Given the description of an element on the screen output the (x, y) to click on. 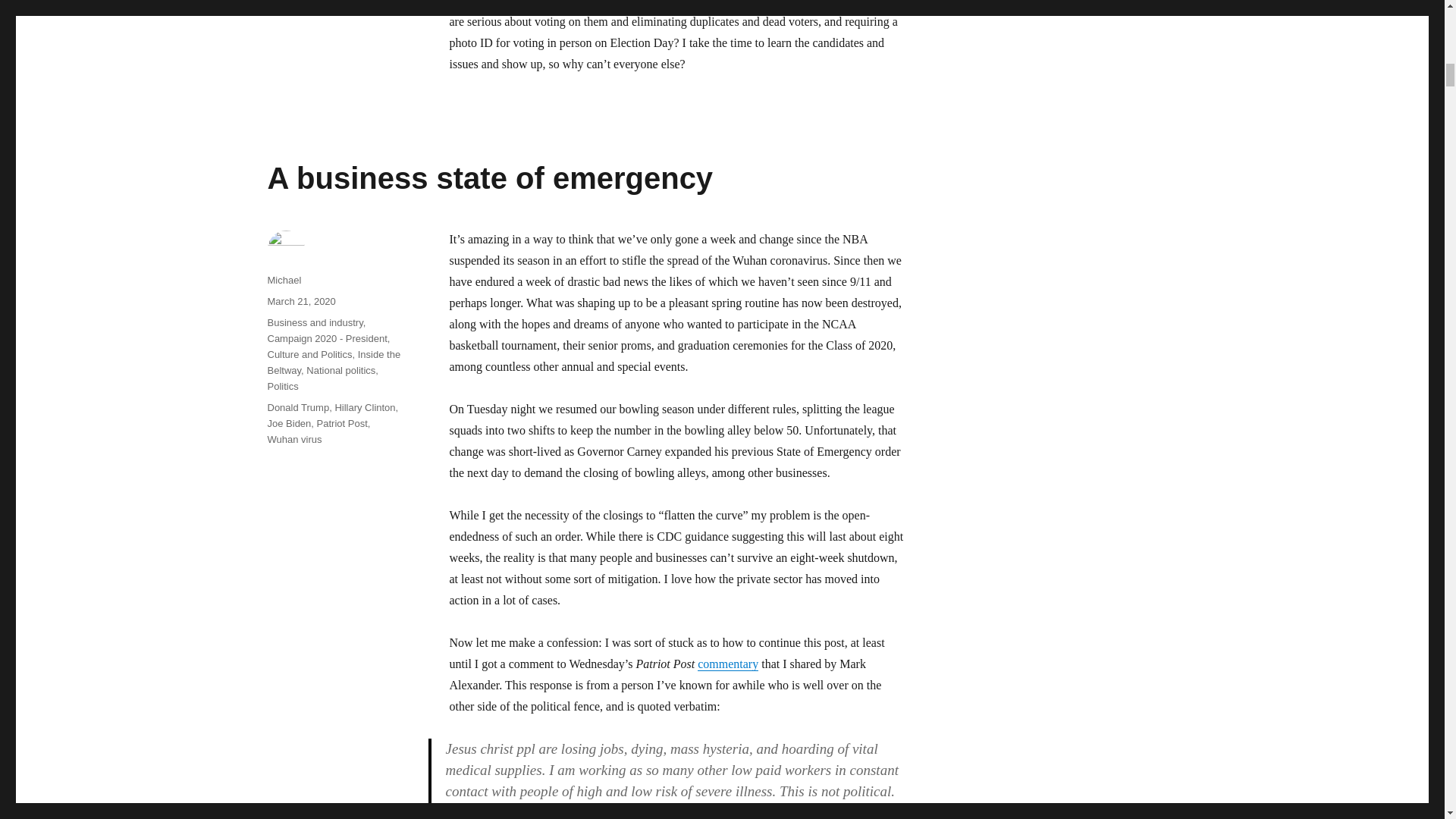
Joe Biden (288, 423)
Culture and Politics (309, 354)
commentary (727, 663)
Business and industry (314, 322)
National politics (340, 369)
Inside the Beltway (333, 361)
Patriot Post (342, 423)
Michael (283, 279)
Politics (282, 386)
Donald Trump (297, 407)
Campaign 2020 - President (326, 337)
Wuhan virus (293, 439)
March 21, 2020 (300, 301)
Hillary Clinton (364, 407)
A business state of emergency (489, 177)
